Given the description of an element on the screen output the (x, y) to click on. 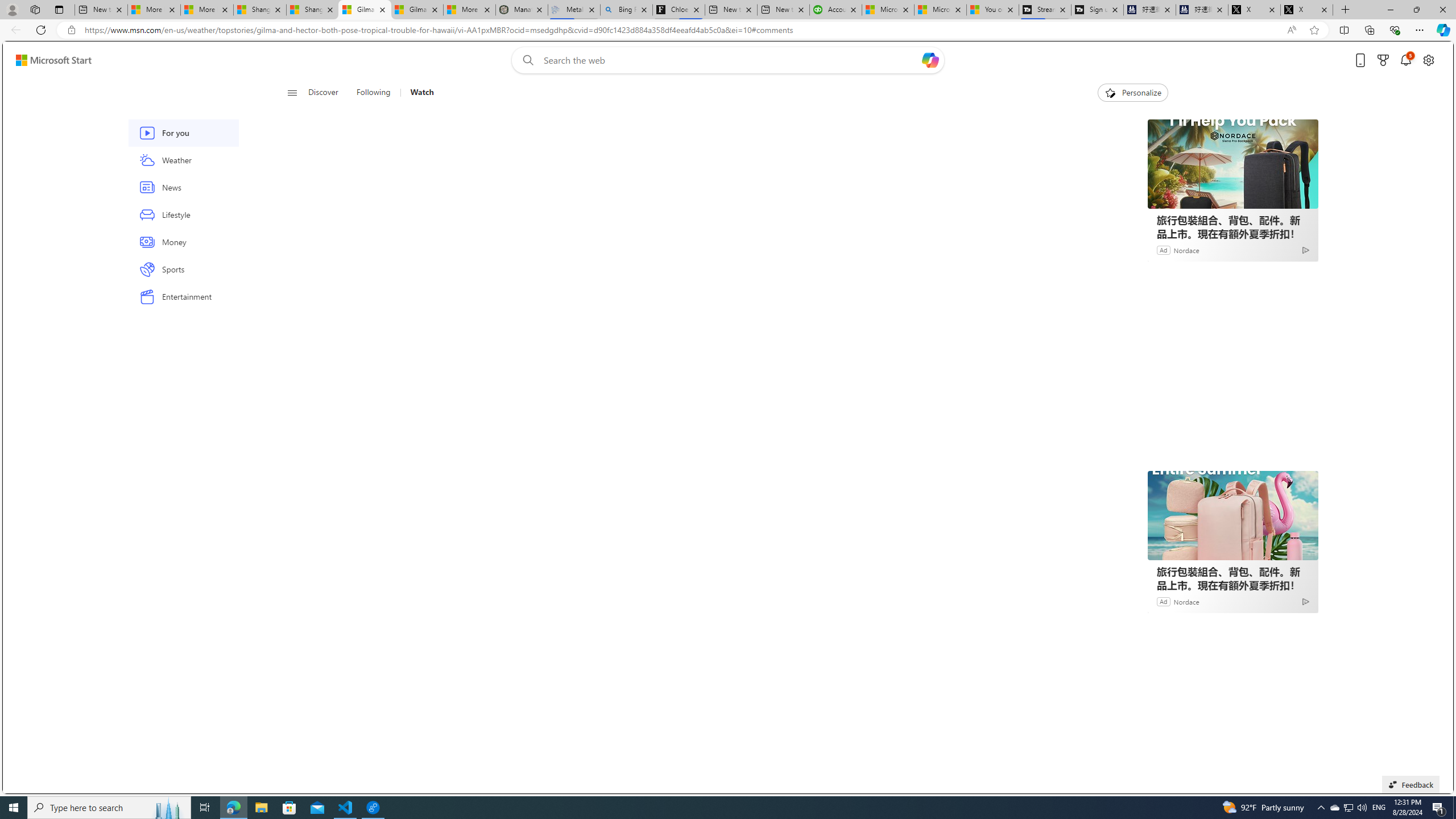
Manatee Mortality Statistics | FWC (521, 9)
Enter your search term (730, 59)
